Given the description of an element on the screen output the (x, y) to click on. 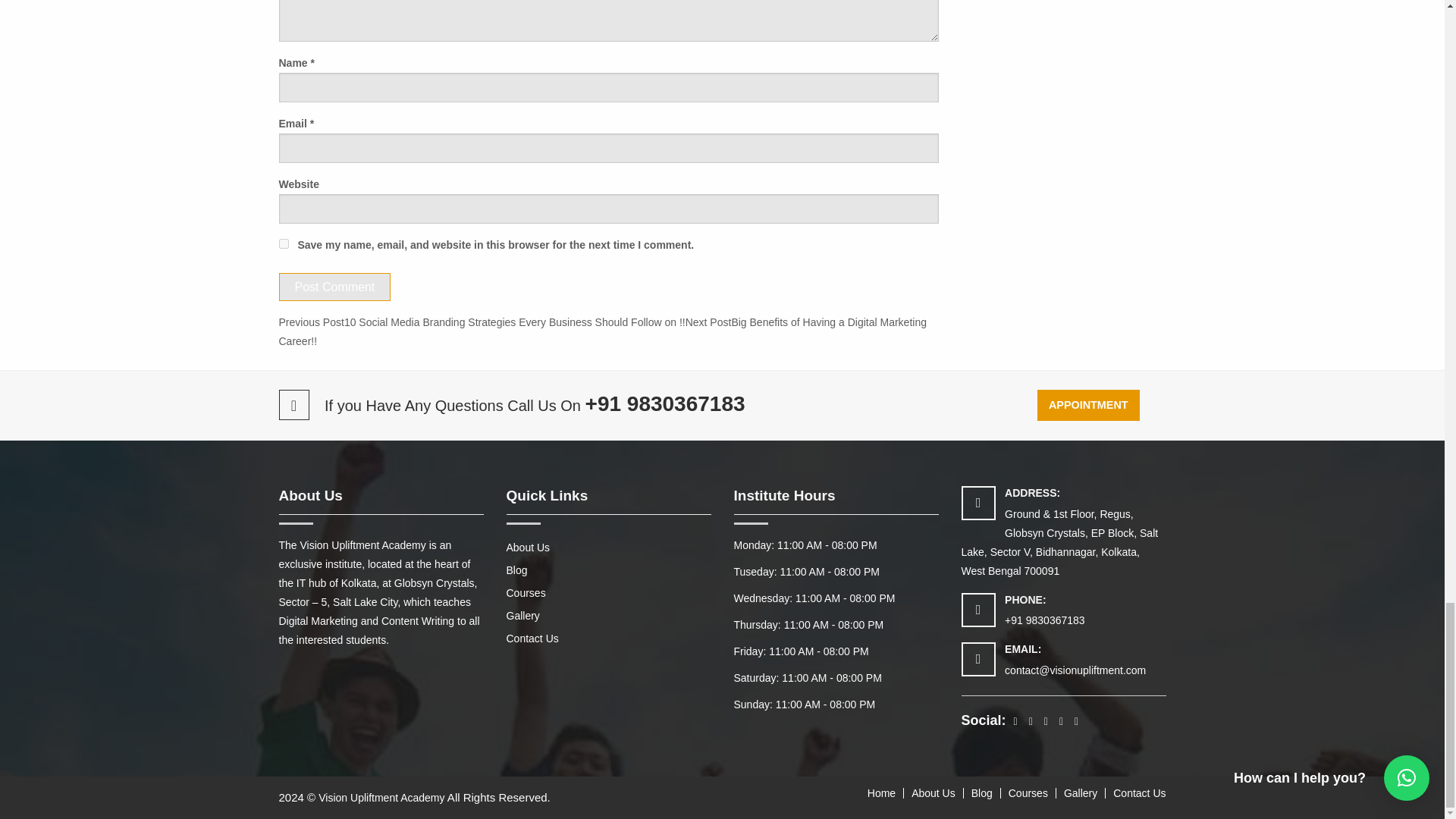
Post Comment (335, 286)
yes (283, 243)
Next PostBig Benefits of Having a Digital Marketing Career!! (602, 331)
Post Comment (335, 286)
